Given the description of an element on the screen output the (x, y) to click on. 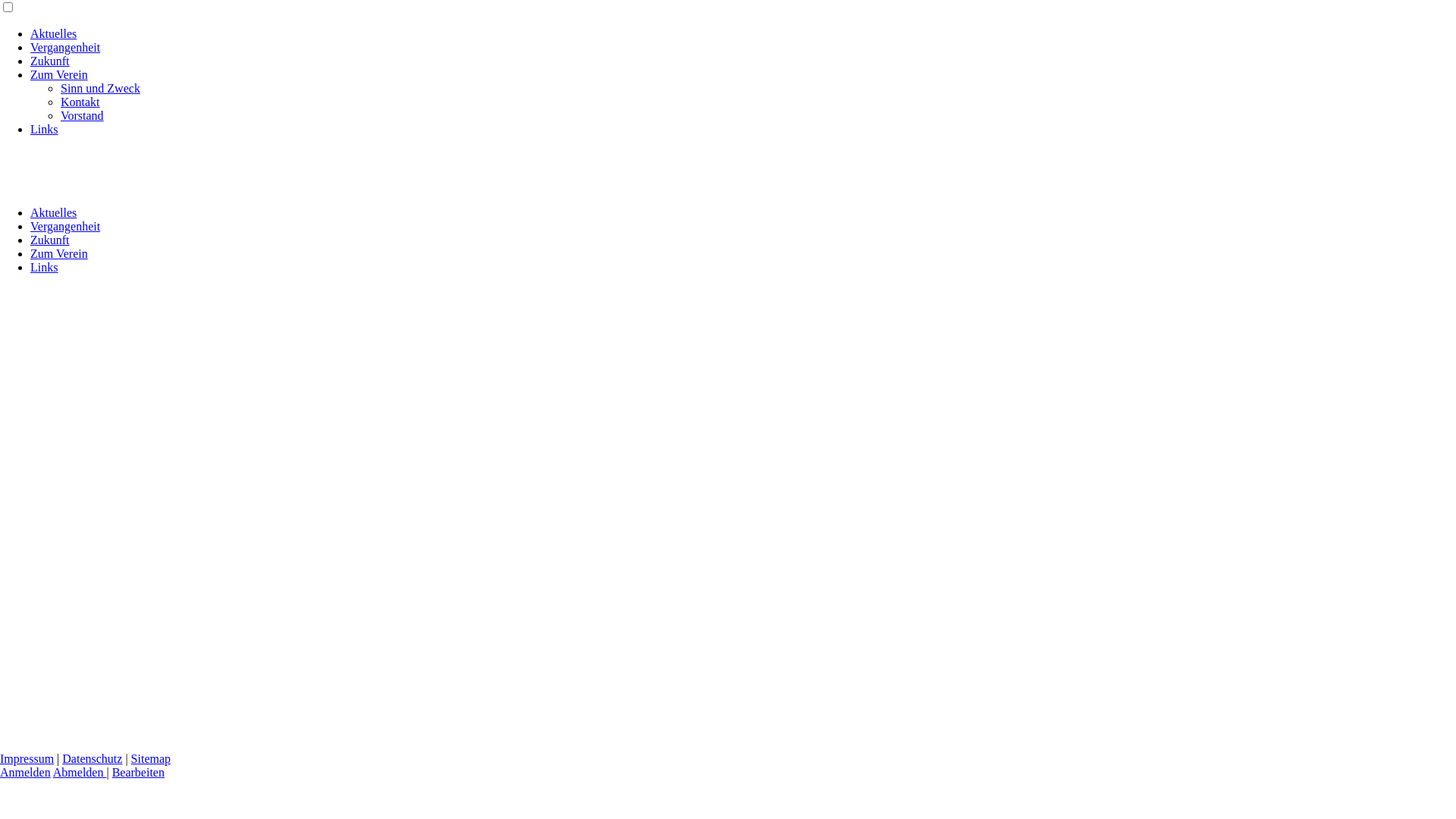
Kontakt Element type: text (80, 101)
Aktuelles Element type: text (53, 33)
Zukunft Element type: text (49, 239)
Zum Verein Element type: text (58, 74)
Zum Verein Element type: text (58, 253)
Vergangenheit Element type: text (65, 225)
Zukunft Element type: text (49, 60)
Links Element type: text (43, 128)
Sitemap Element type: text (150, 758)
Impressum Element type: text (26, 758)
Anmelden Element type: text (25, 771)
Links Element type: text (43, 266)
Datenschutz Element type: text (92, 758)
Vergangenheit Element type: text (65, 46)
Abmelden Element type: text (79, 771)
Vorstand Element type: text (81, 115)
Bearbeiten Element type: text (138, 771)
Aktuelles Element type: text (53, 212)
Sinn und Zweck Element type: text (100, 87)
